Given the description of an element on the screen output the (x, y) to click on. 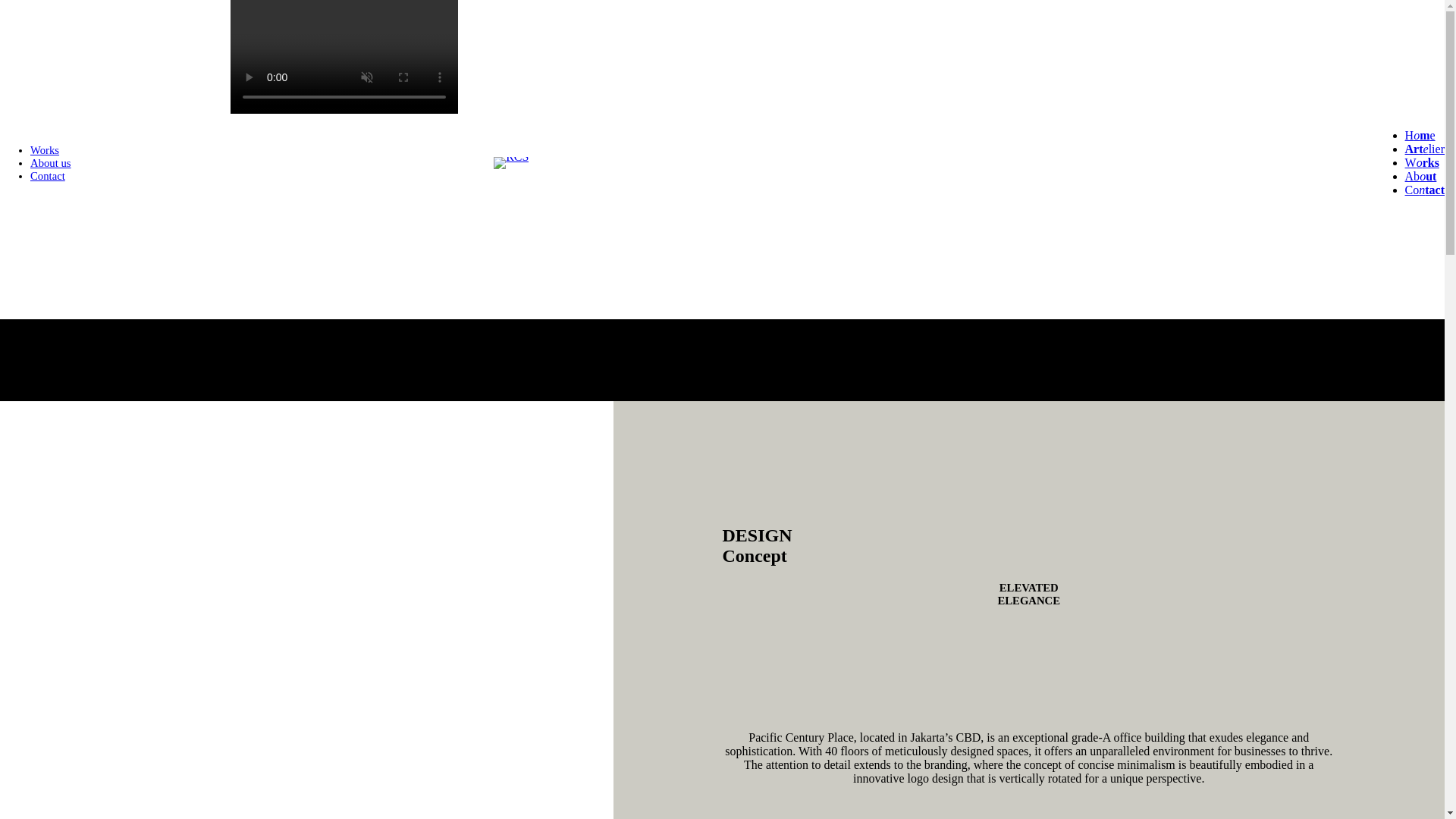
About us (50, 162)
About (1421, 175)
Home (1420, 134)
Works (1422, 162)
Contact (47, 175)
Works (44, 150)
